Given the description of an element on the screen output the (x, y) to click on. 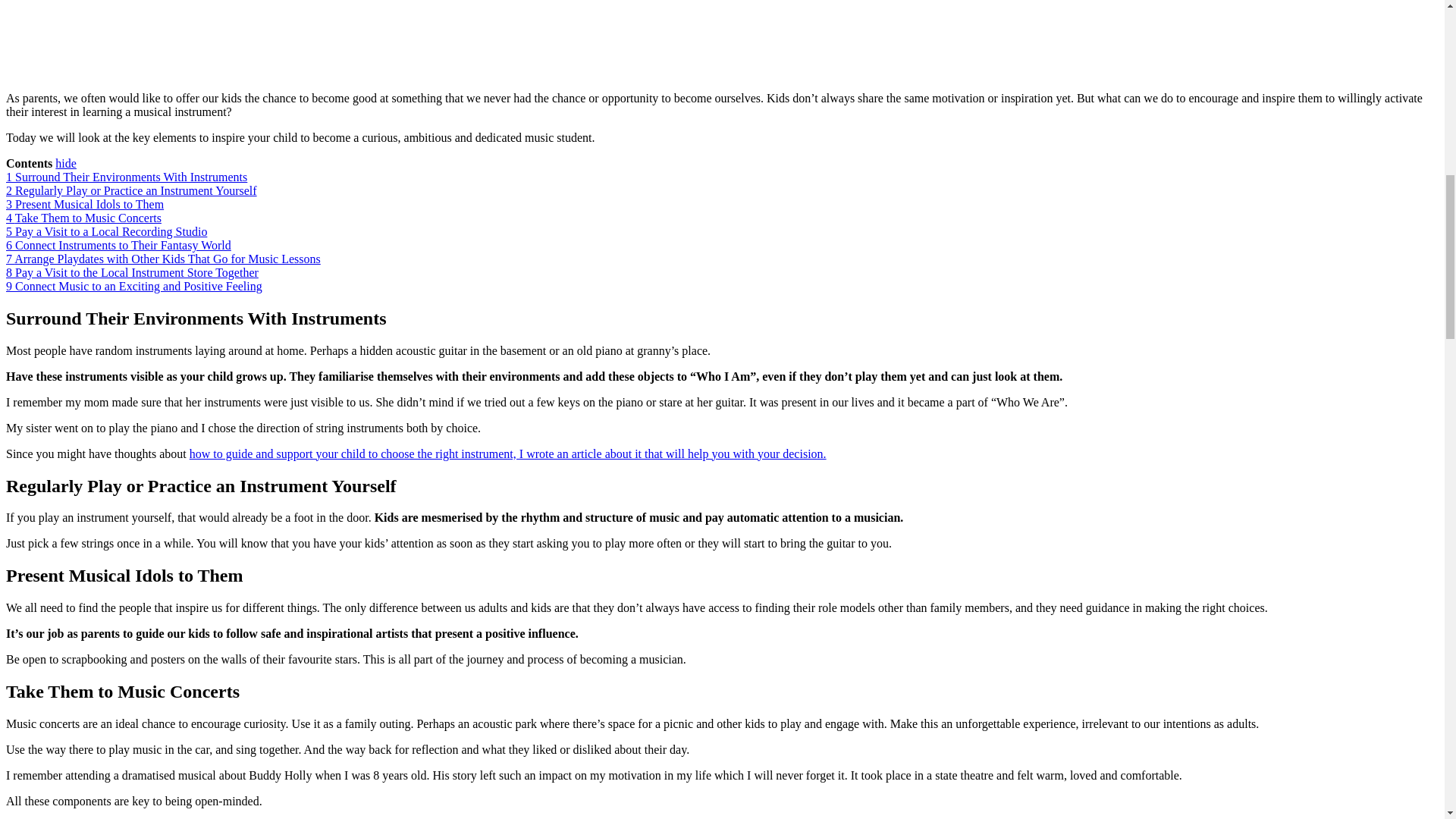
2 Regularly Play or Practice an Instrument Yourself (131, 190)
8 Pay a Visit to the Local Instrument Store Together (132, 272)
9 Connect Music to an Exciting and Positive Feeling (133, 286)
3 Present Musical Idols to Them (84, 204)
5 Pay a Visit to a Local Recording Studio (105, 231)
4 Take Them to Music Concerts (83, 217)
1 Surround Their Environments With Instruments (126, 176)
6 Connect Instruments to Their Fantasy World (118, 245)
